Given the description of an element on the screen output the (x, y) to click on. 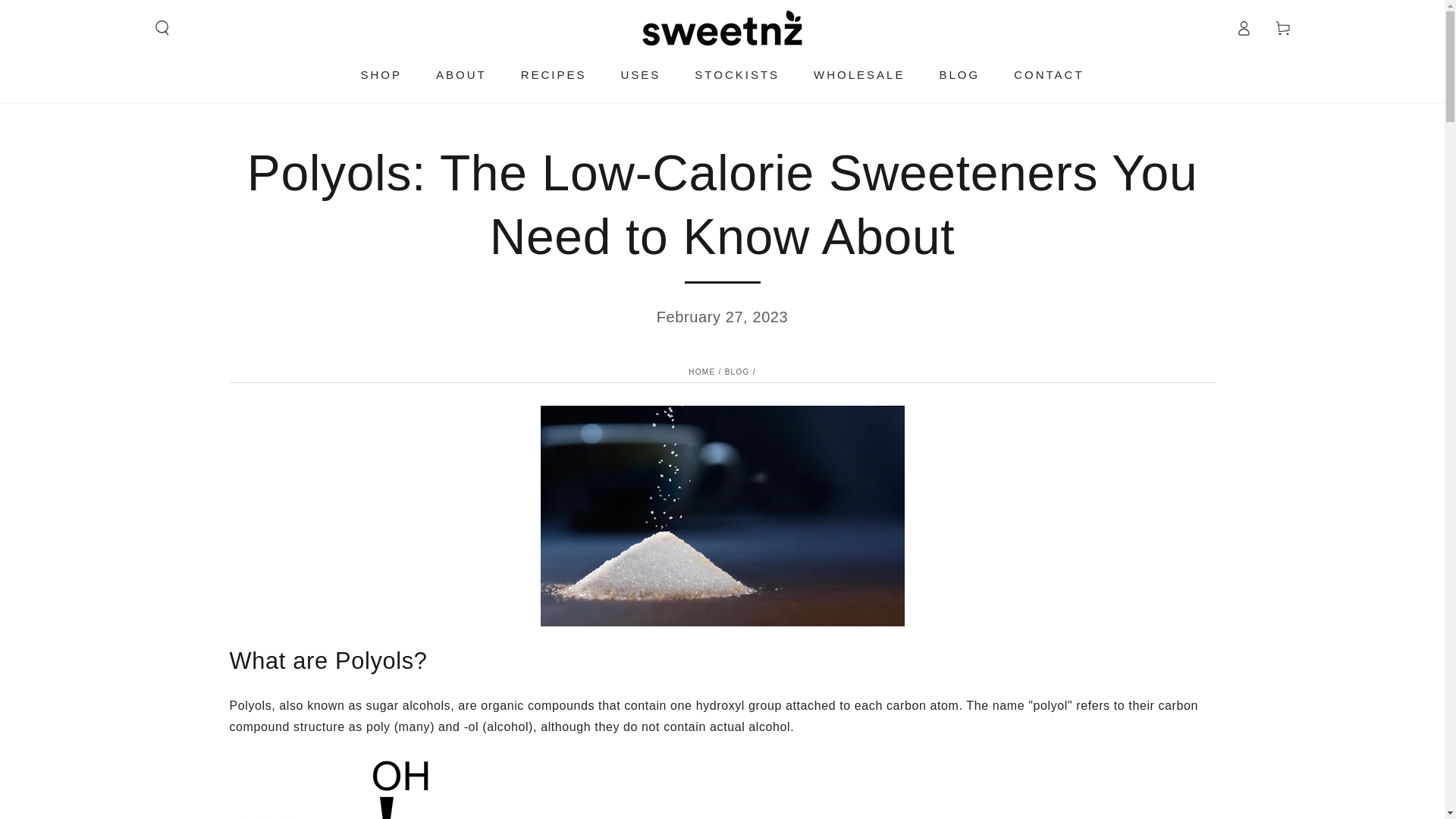
SKIP TO CONTENT (67, 14)
Back to the frontpage (701, 371)
